Given the description of an element on the screen output the (x, y) to click on. 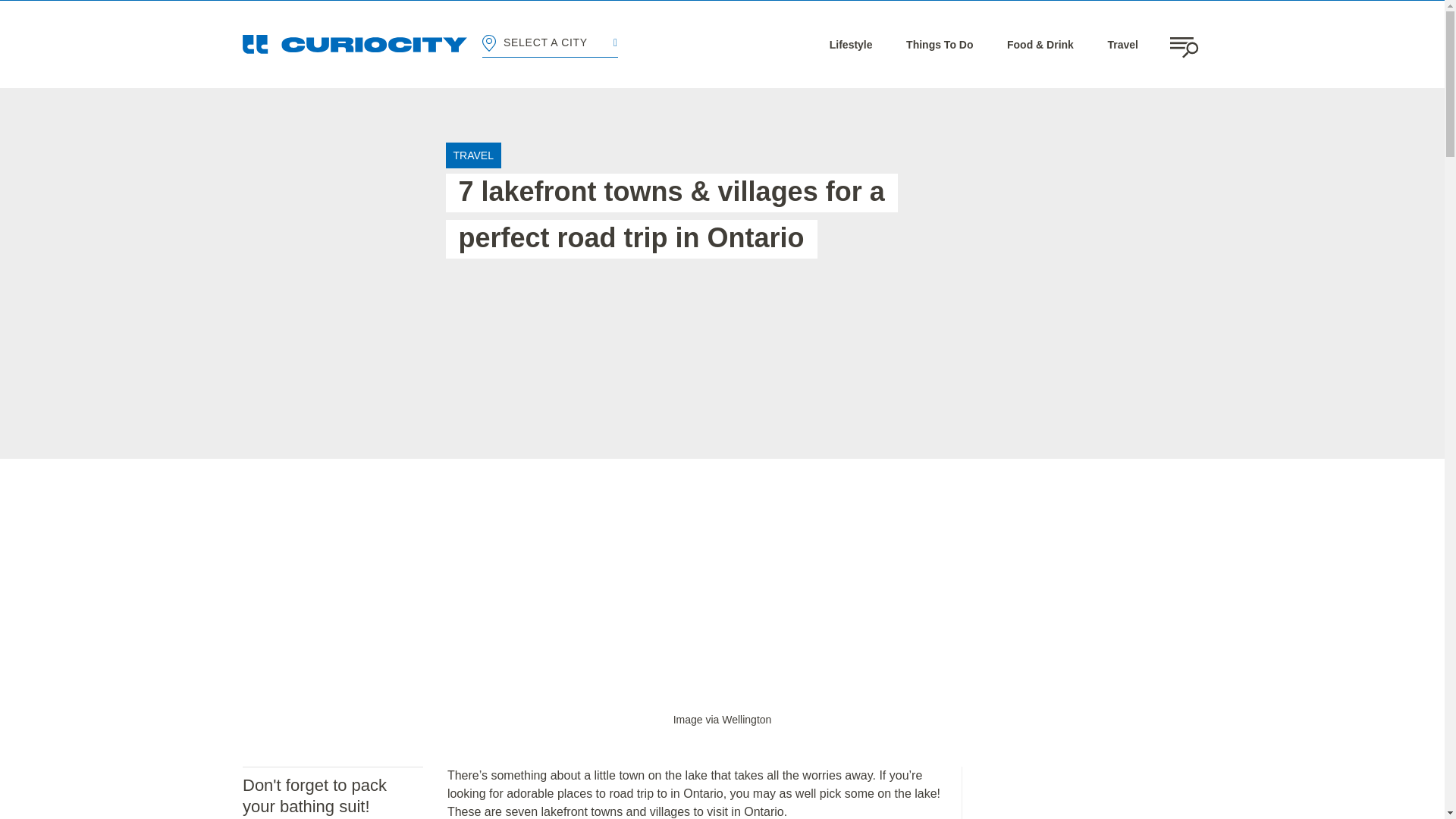
opens in a new tab (721, 719)
Travel (1121, 44)
Lifestyle (850, 44)
SELECT A CITY (549, 44)
curiocity-primary-logo-blue  (355, 44)
Things To Do (938, 44)
goes to Home (355, 43)
